Given the description of an element on the screen output the (x, y) to click on. 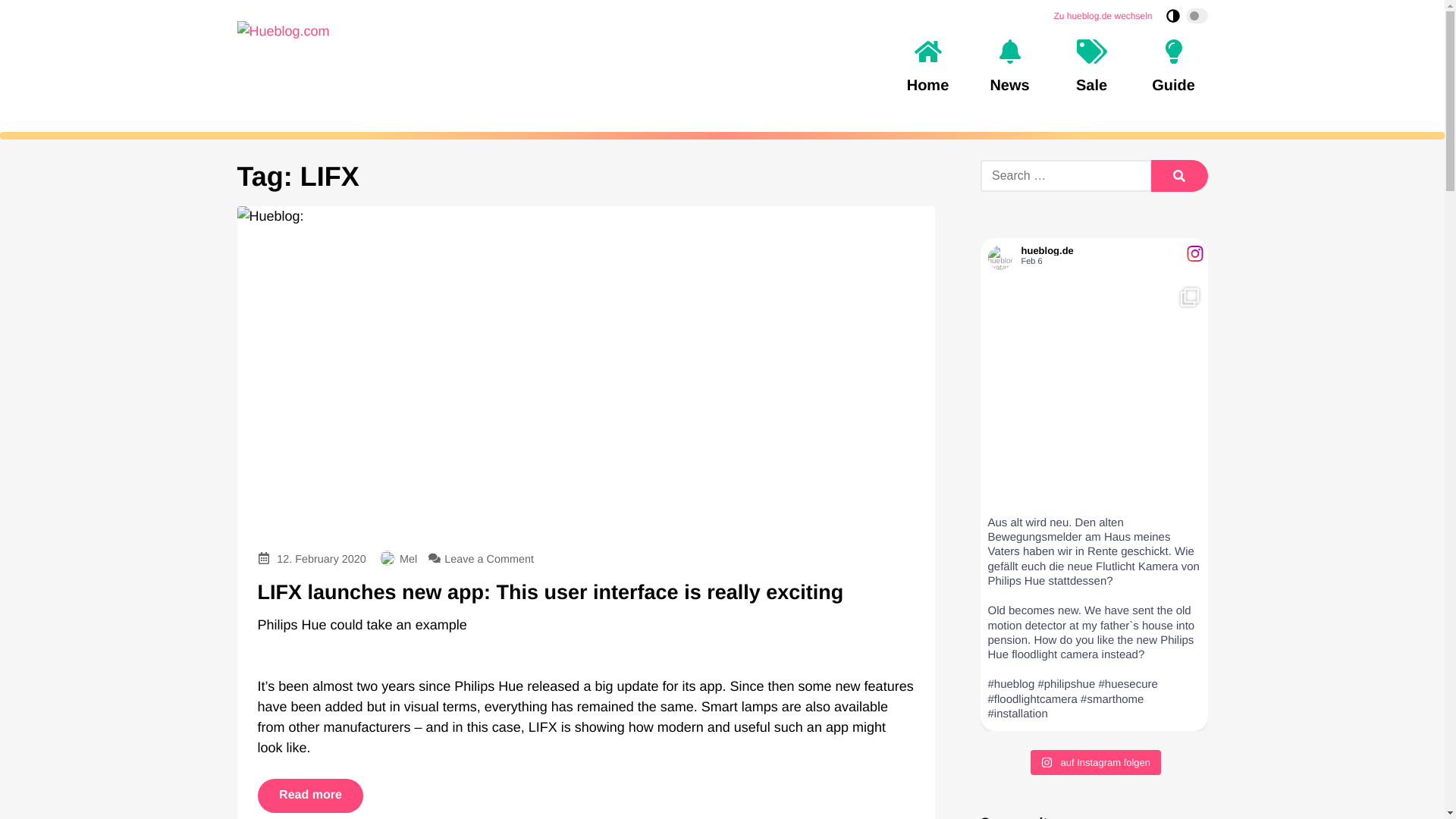
Guide (1172, 66)
Sale (1091, 66)
Read more (310, 795)
Home (926, 66)
Zu hueblog.de wechseln (1101, 15)
News (1009, 66)
Deutsche hueblog.de Seite aufrufen (1101, 15)
